Given the description of an element on the screen output the (x, y) to click on. 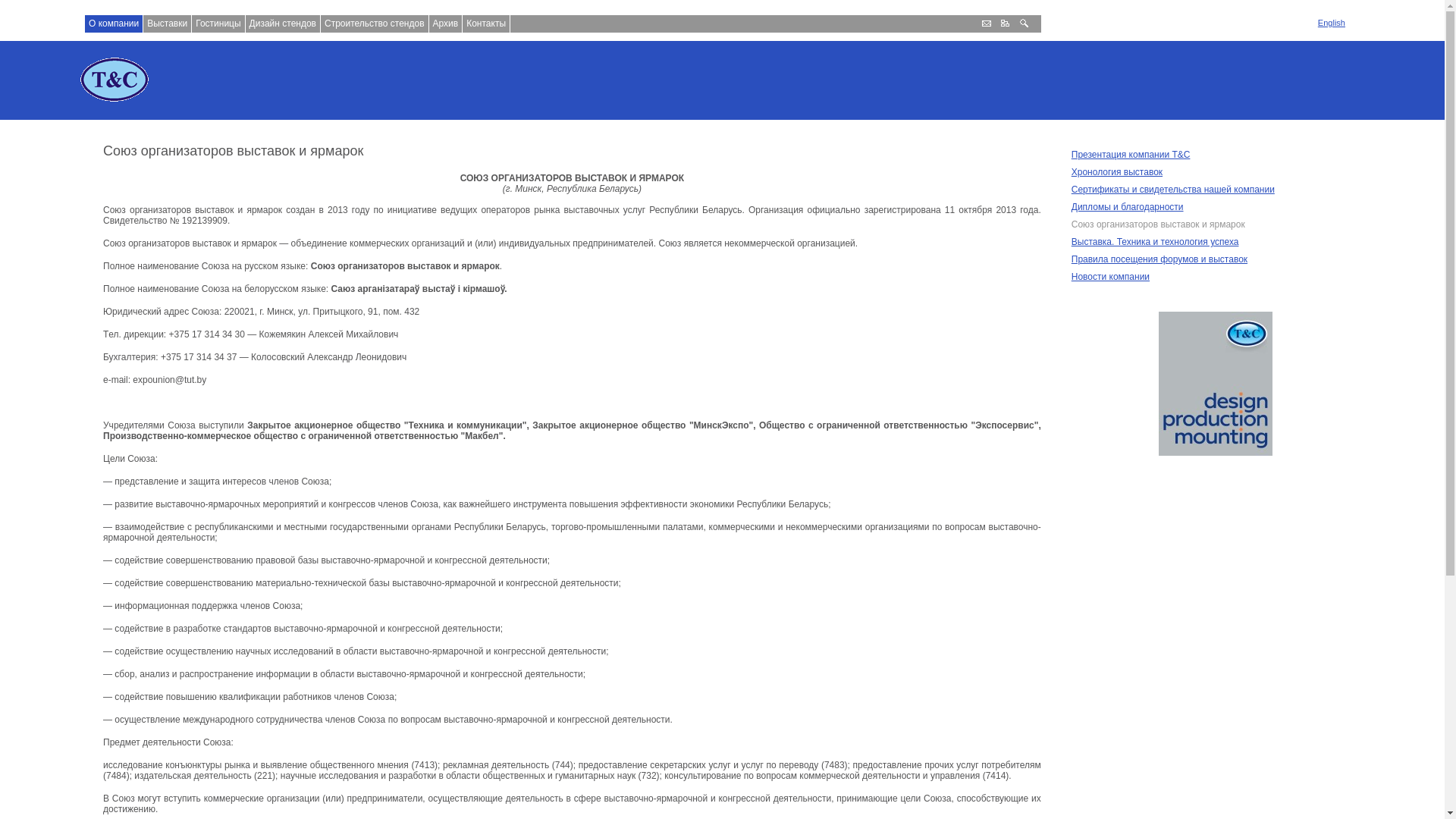
t&c Element type: hover (113, 79)
English Element type: text (1331, 22)
